Given the description of an element on the screen output the (x, y) to click on. 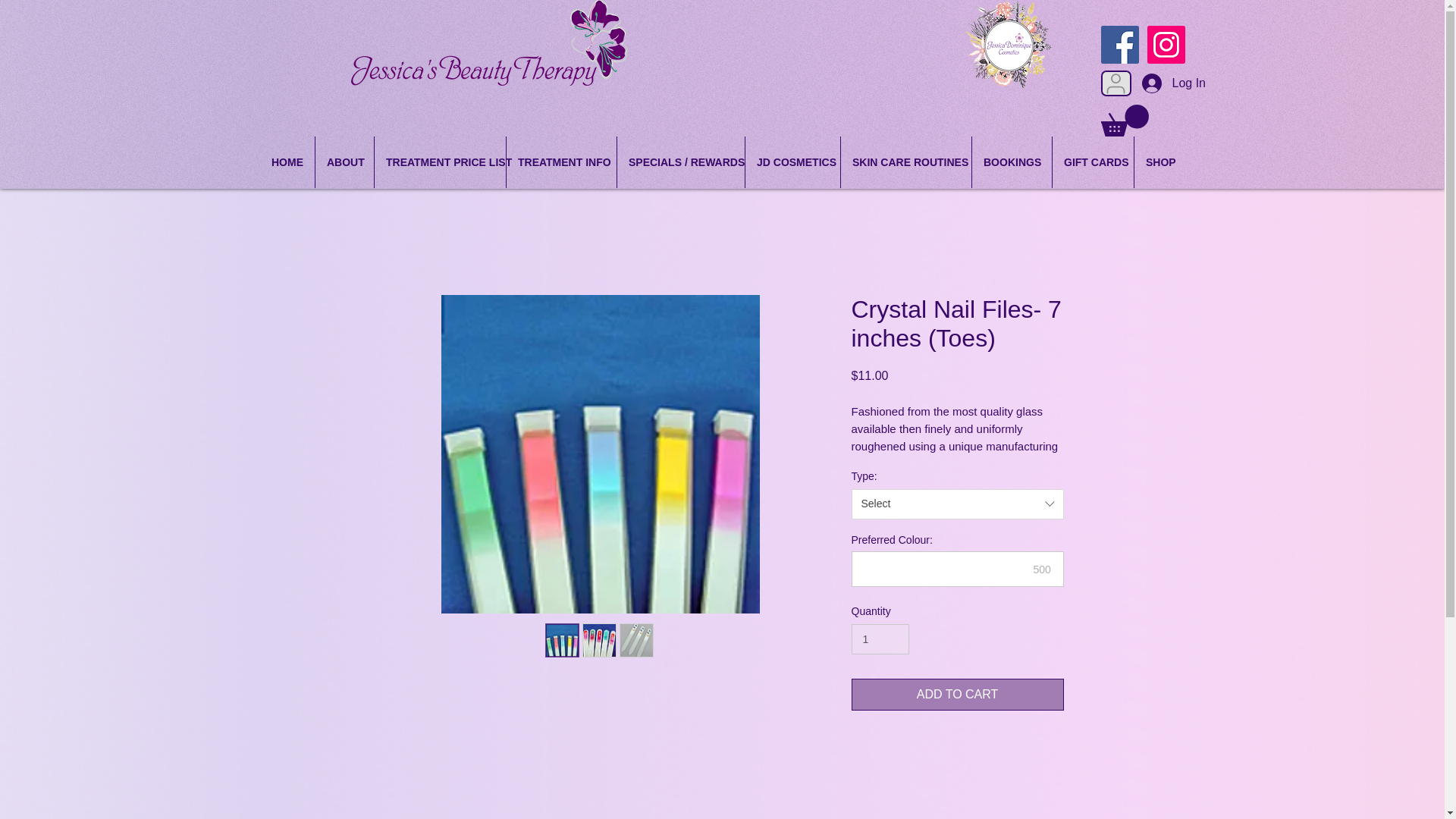
SHOP (1159, 162)
TREATMENT INFO (560, 162)
Log In (1158, 82)
HOME (287, 162)
Select (956, 503)
BOOKINGS (1011, 162)
1 (879, 639)
GIFT CARDS (1093, 162)
ABOUT (344, 162)
TREATMENT PRICE LIST (439, 162)
